Given the description of an element on the screen output the (x, y) to click on. 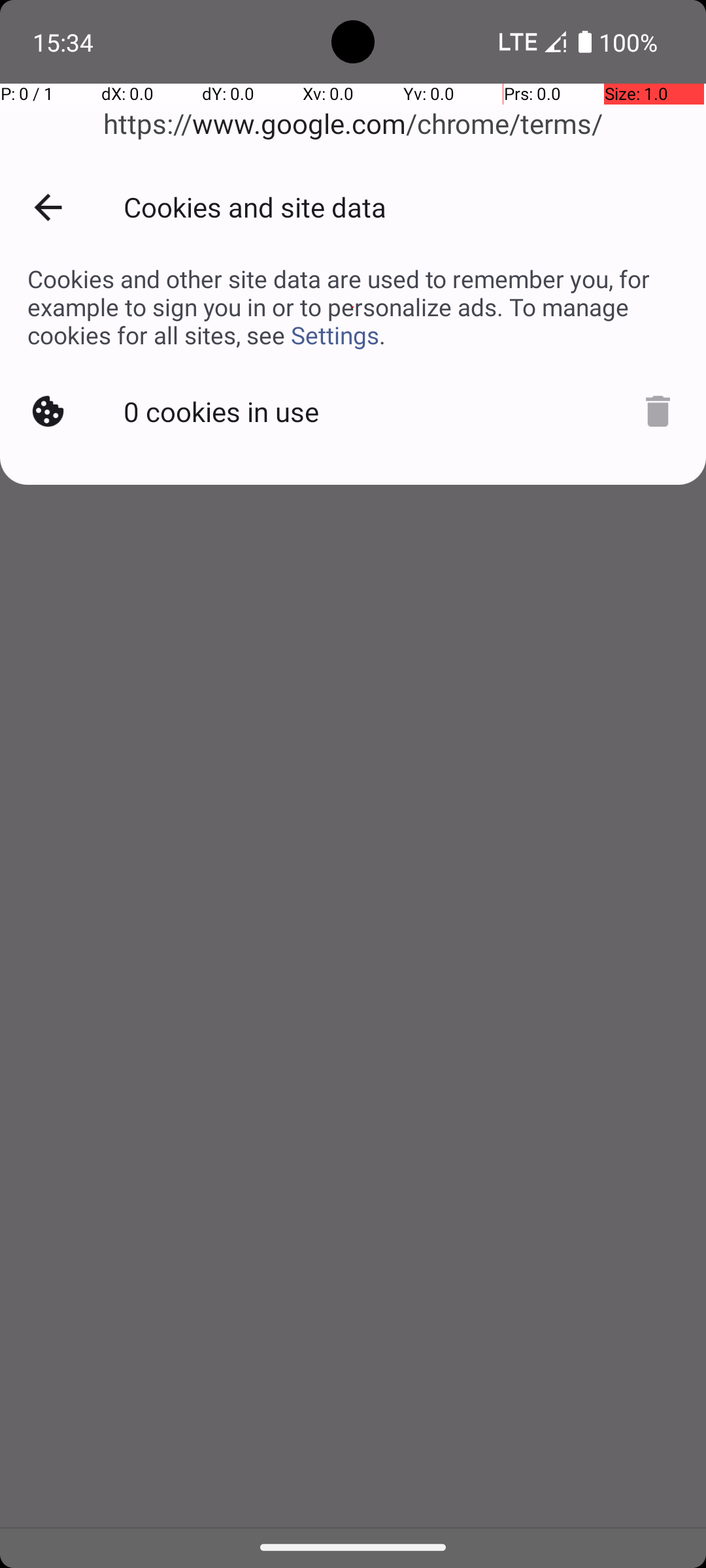
Cookies and other site data are used to remember you, for example to sign you in or to personalize ads. To manage cookies for all sites, see Settings. Element type: android.widget.TextView (352, 306)
0 cookies in use Element type: android.widget.TextView (223, 408)
Delete cookies? Element type: android.widget.ImageView (650, 408)
